Given the description of an element on the screen output the (x, y) to click on. 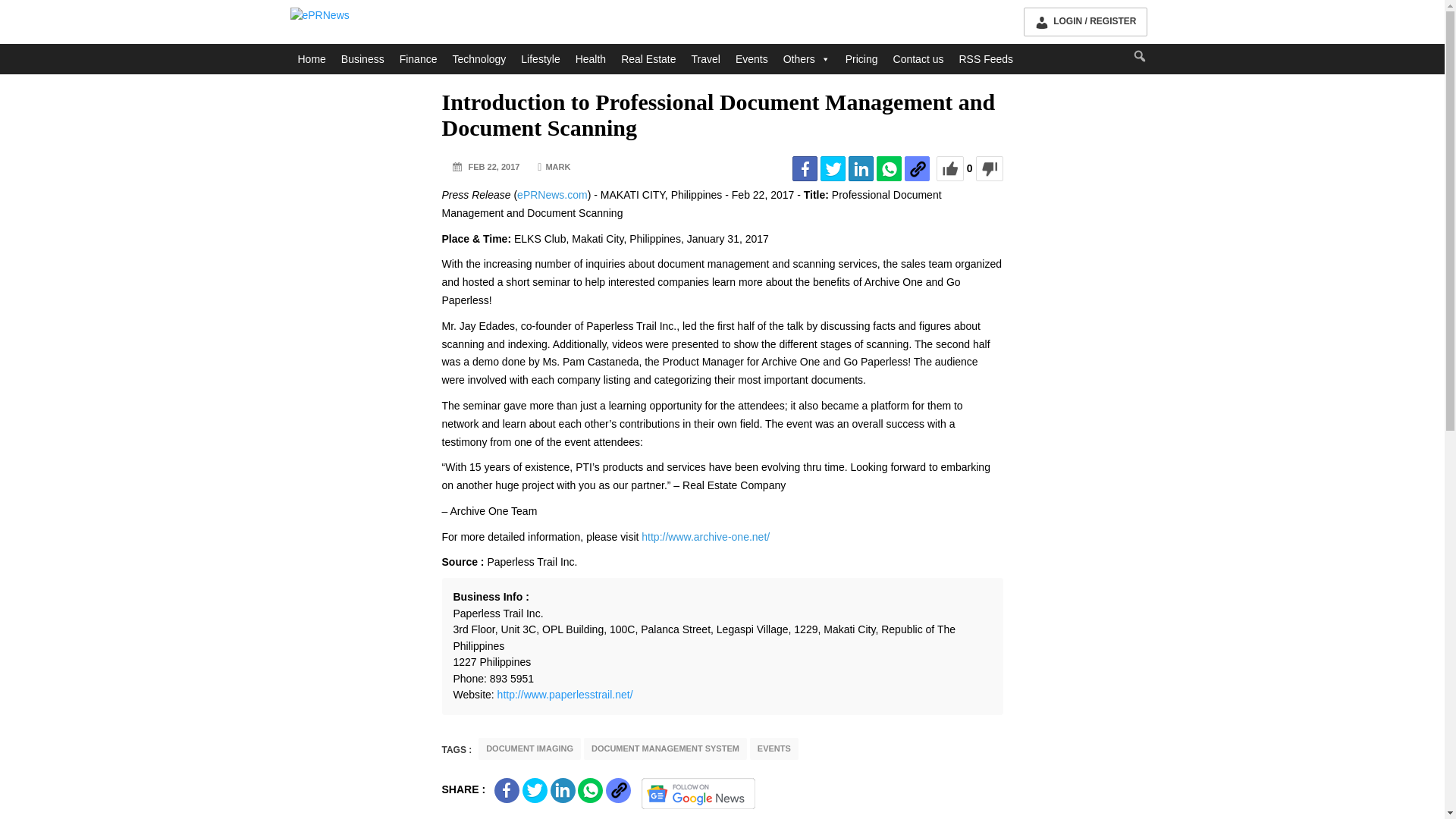
Home (311, 59)
Share on Linkedin (562, 790)
Upvote (949, 168)
Lifestyle (540, 59)
Share on Whatsapp (590, 790)
Health (589, 59)
Copy Link (617, 790)
Share on Whatsapp (888, 168)
Real Estate (647, 59)
Downvote (989, 168)
EVENTS (773, 748)
RSS Feeds (985, 59)
Travel (706, 59)
Share on Facebook (507, 790)
DOCUMENT IMAGING (529, 748)
